Given the description of an element on the screen output the (x, y) to click on. 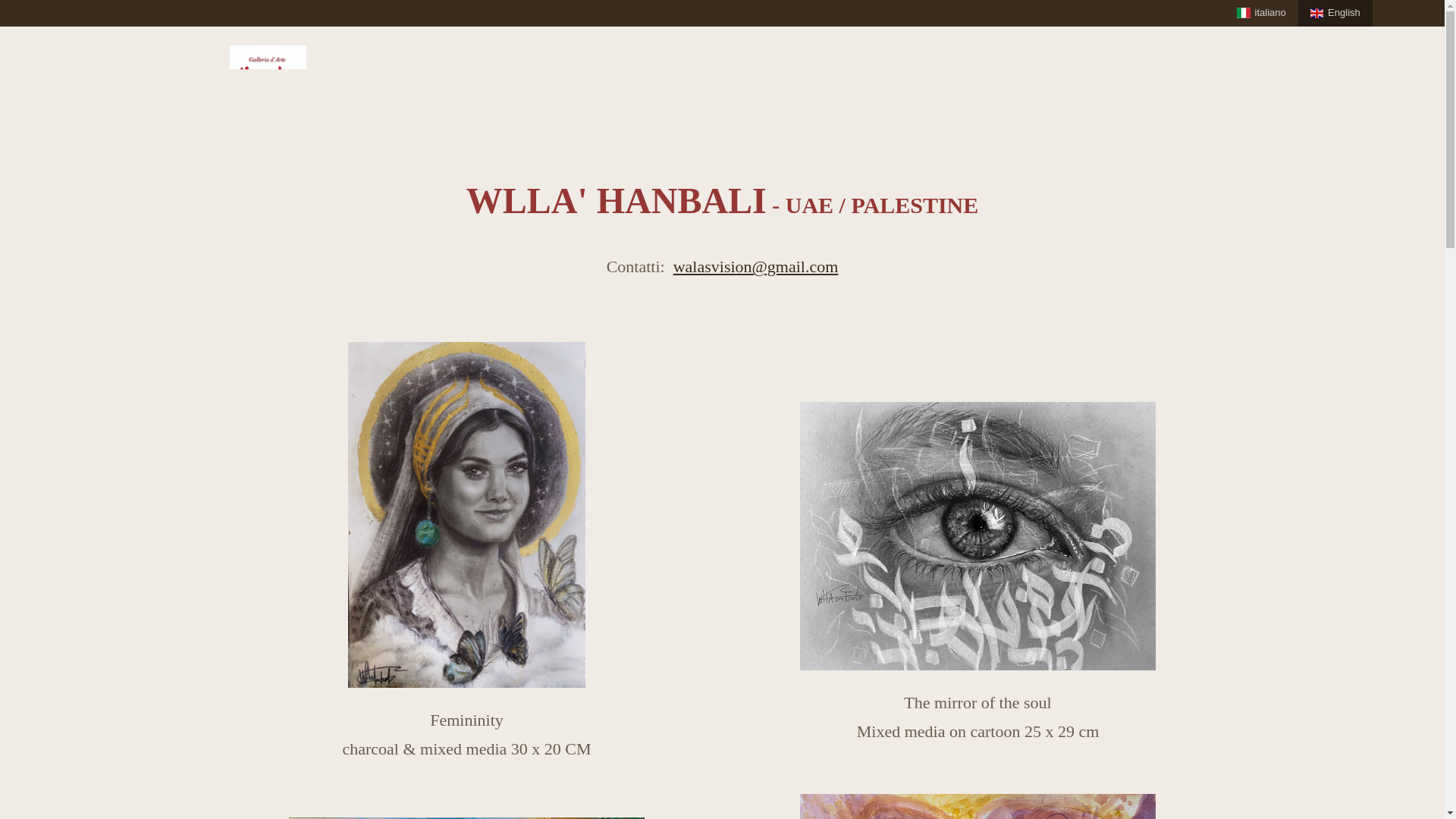
italiano (1261, 13)
Heart beating (977, 806)
English (1335, 13)
The mirror of the soul (976, 536)
Heart beating (976, 806)
The mirror of the soul (977, 536)
